Given the description of an element on the screen output the (x, y) to click on. 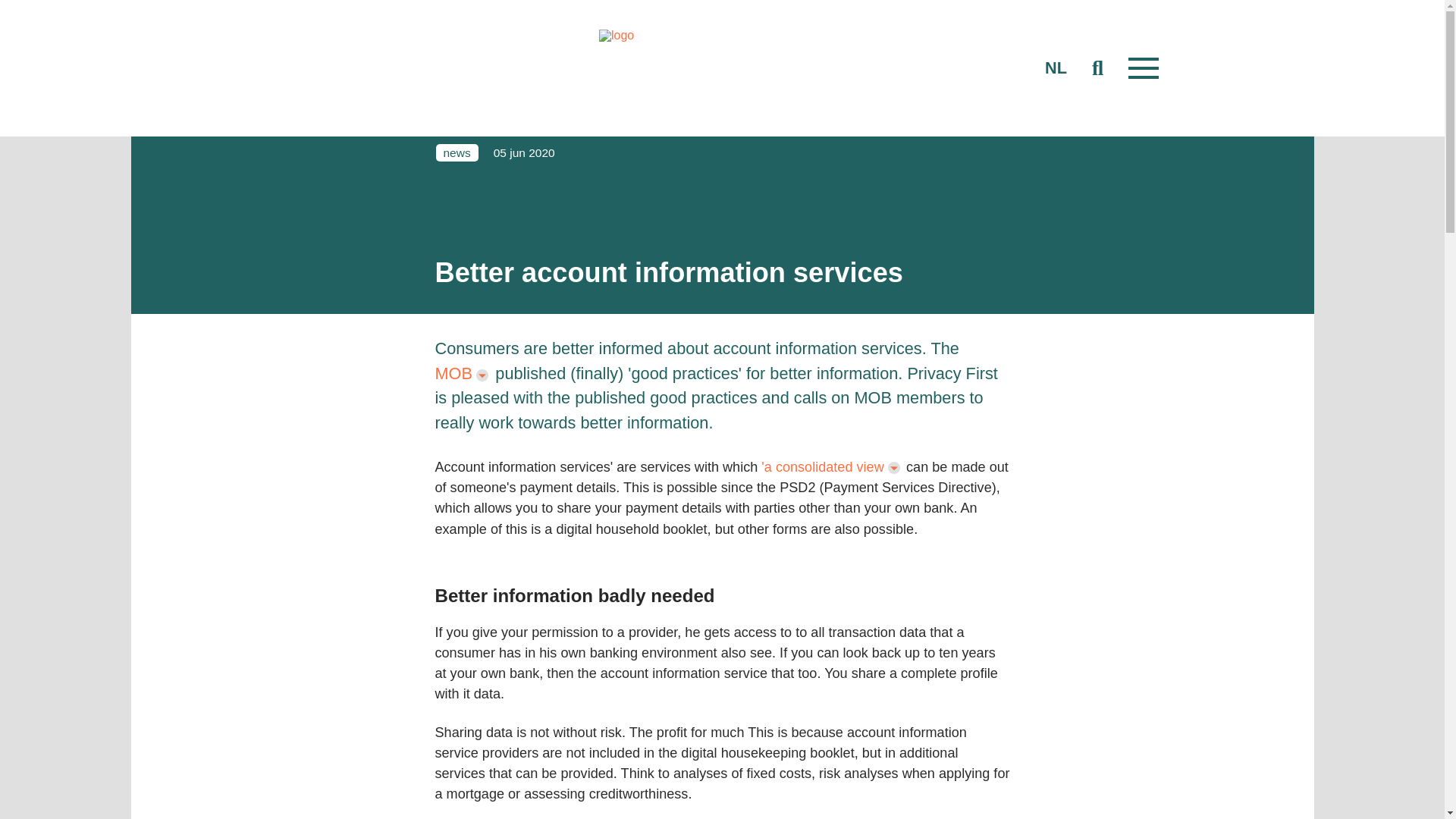
MOB (463, 373)
news (456, 152)
NL (1055, 68)
'a consolidated view (831, 467)
